Given the description of an element on the screen output the (x, y) to click on. 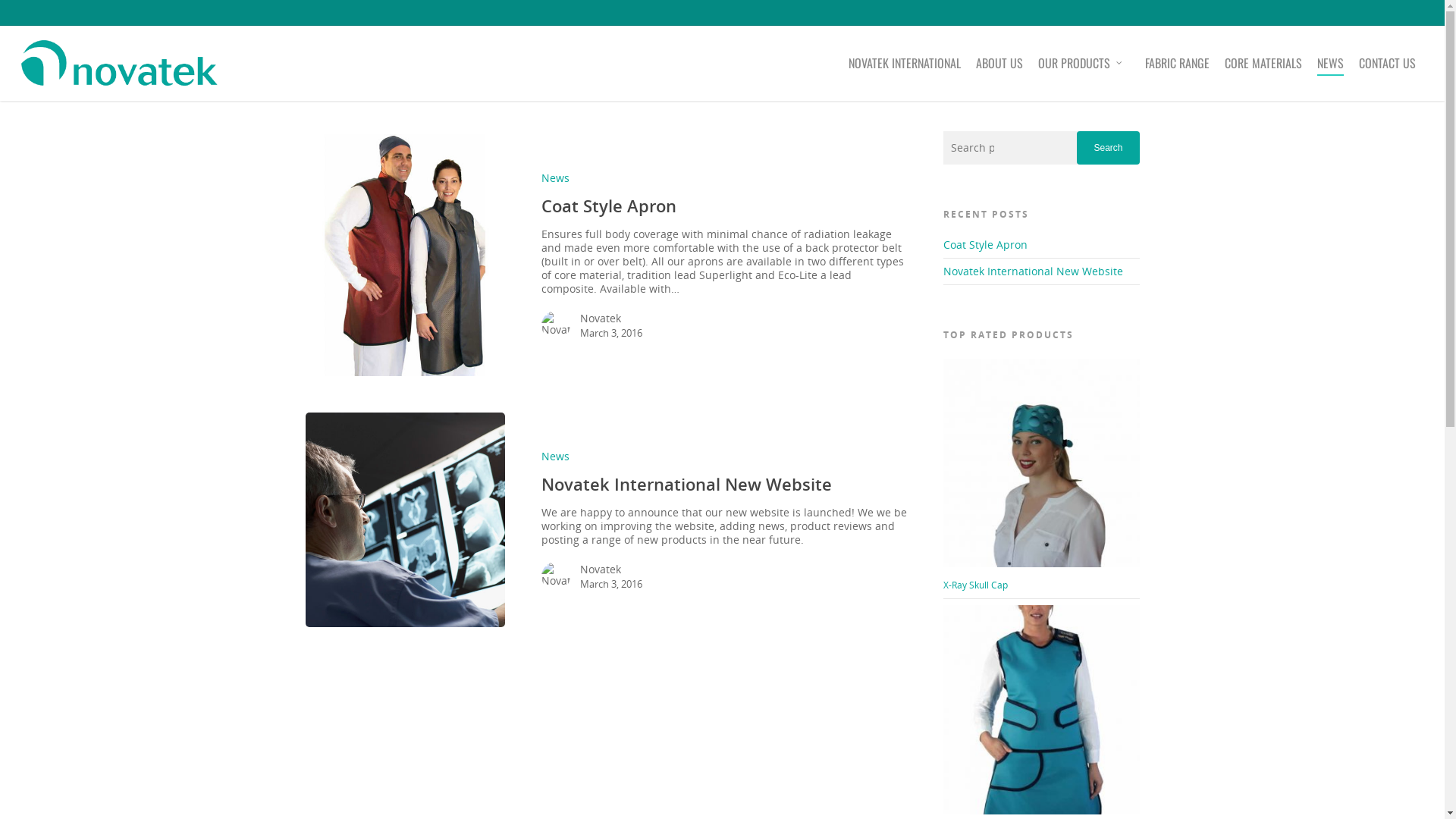
Novatek International New Website Element type: text (1033, 270)
NEWS Element type: text (1330, 70)
FABRIC RANGE Element type: text (1177, 70)
CONTACT US Element type: text (1386, 70)
Search Element type: text (1107, 147)
NOVATEK INTERNATIONAL Element type: text (904, 70)
X-Ray Skull Cap Element type: text (1041, 475)
News Element type: text (555, 177)
Novatek Element type: text (611, 569)
Novatek International New Website Element type: text (686, 483)
Novatek Element type: text (611, 318)
Coat Style Apron Element type: text (608, 205)
OUR PRODUCTS Element type: text (1083, 70)
News Element type: text (555, 455)
CORE MATERIALS Element type: text (1263, 70)
Coat Style Apron Element type: text (985, 244)
ABOUT US Element type: text (998, 70)
